Given the description of an element on the screen output the (x, y) to click on. 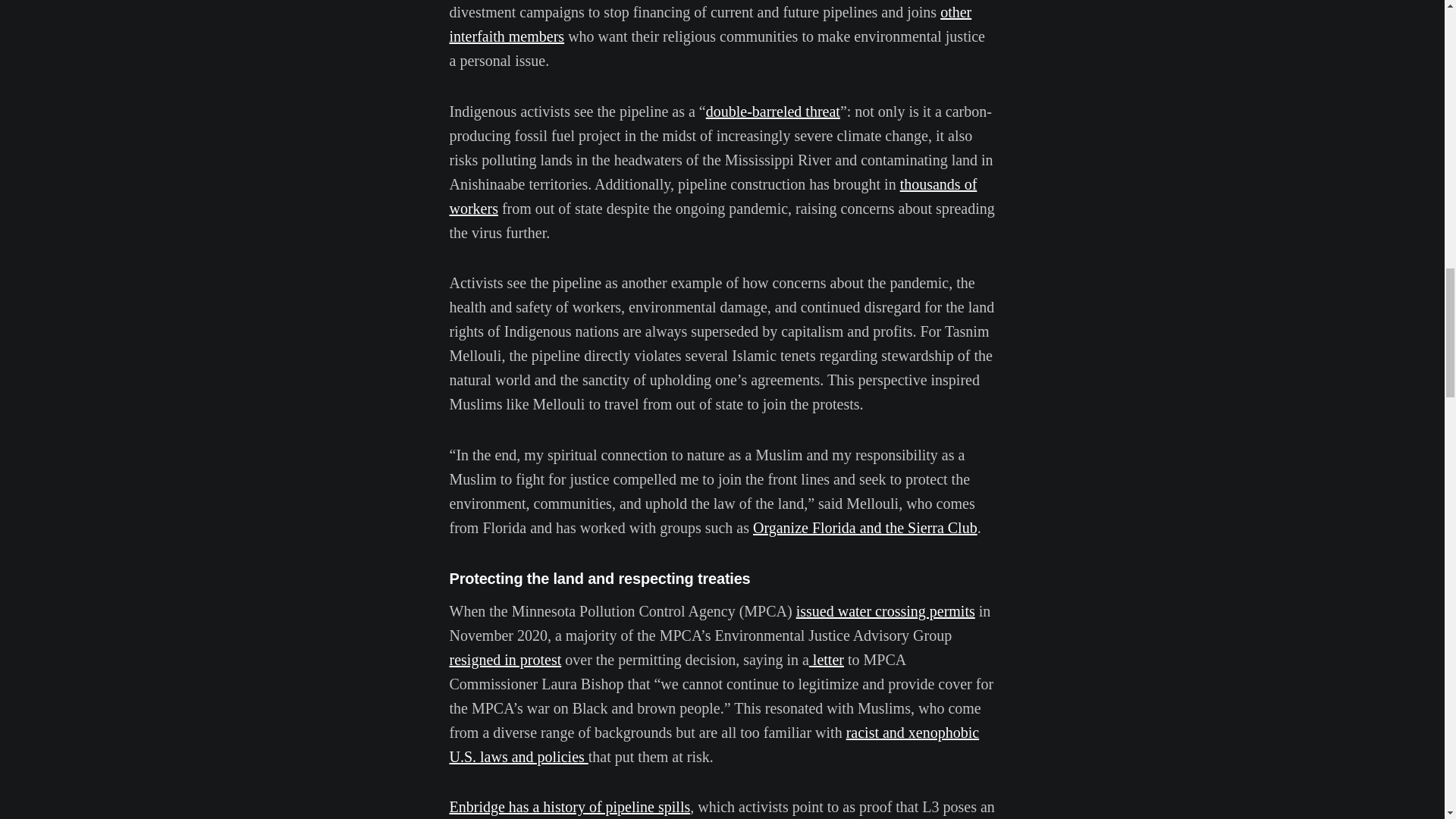
double-barreled threat (773, 111)
issued water crossing permits (885, 610)
other interfaith members (709, 24)
Enbridge has a history of pipeline spills (569, 806)
racist and xenophobic U.S. laws and policies (713, 743)
Organize Florida and the Sierra Club (864, 527)
resigned in protest (504, 659)
thousands of workers (712, 196)
letter (826, 659)
